Given the description of an element on the screen output the (x, y) to click on. 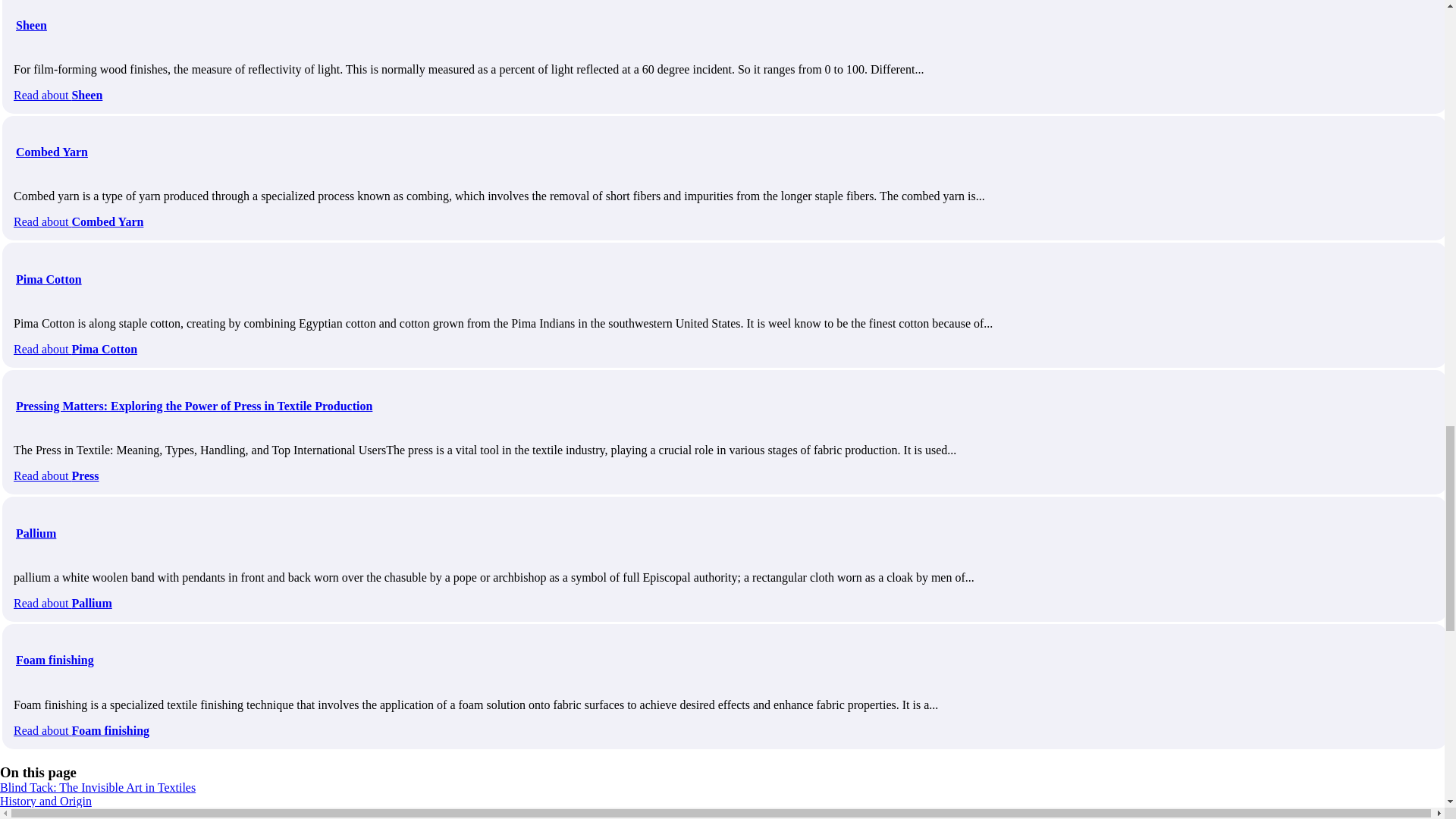
Types of Blind Tacks (51, 813)
Pallium (36, 533)
Foam finishing (55, 659)
Blind Tack: The Invisible Art in Textiles (97, 787)
Pima Cotton (48, 278)
Combed Yarn (51, 151)
Sheen (31, 24)
History and Origin (45, 800)
